Given the description of an element on the screen output the (x, y) to click on. 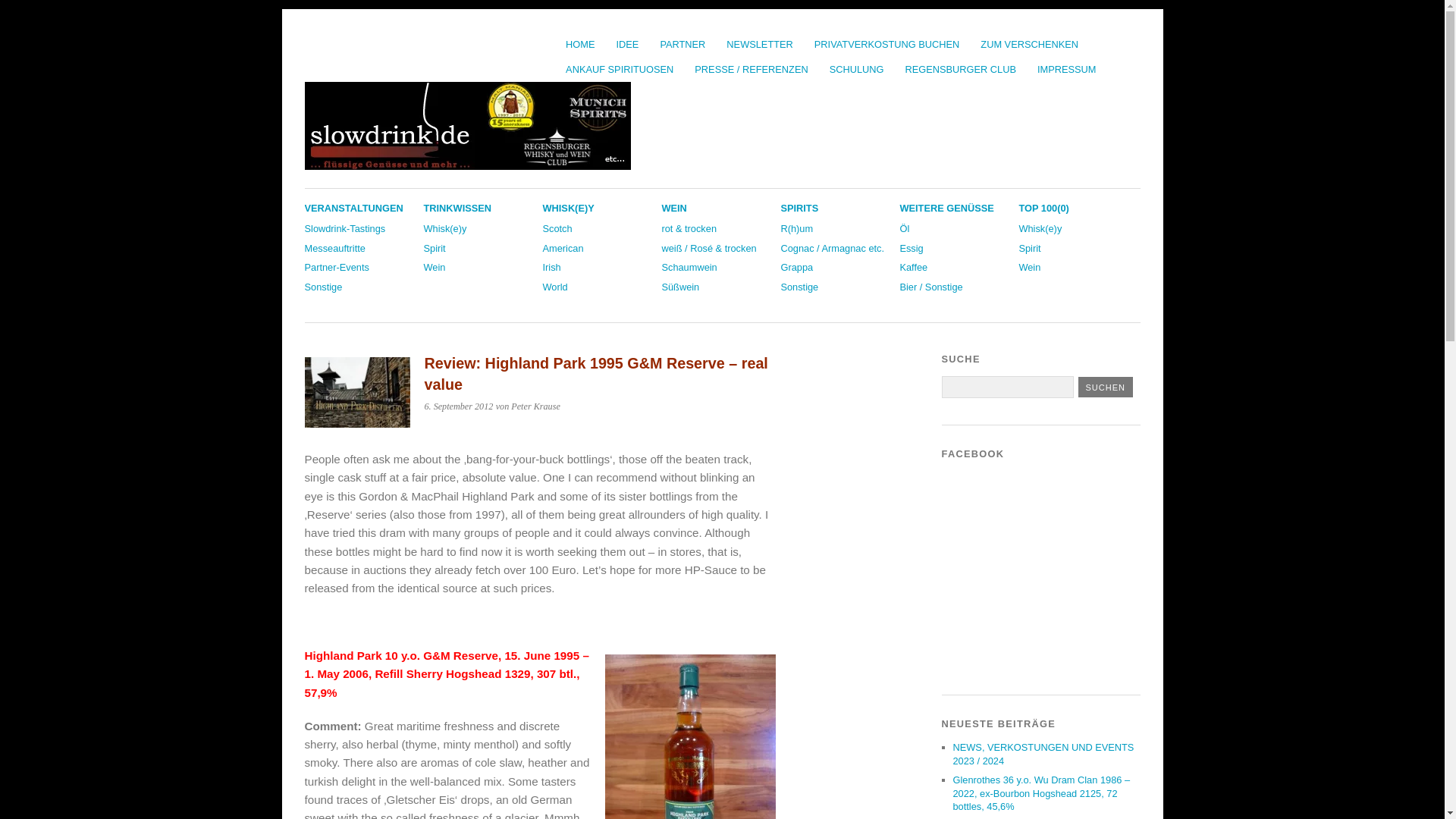
Schaumwein (688, 266)
Suchen (1105, 386)
HOME (579, 43)
Sonstige (799, 286)
Messeauftritte (334, 247)
Scotch (556, 228)
PARTNER (682, 43)
SPIRITS (799, 207)
Partner-Events (336, 266)
Wein (434, 266)
SCHULUNG (856, 68)
Kaffee (913, 266)
Suchen (1105, 386)
ZUM VERSCHENKEN (1029, 43)
REGENSBURGER CLUB (959, 68)
